Given the description of an element on the screen output the (x, y) to click on. 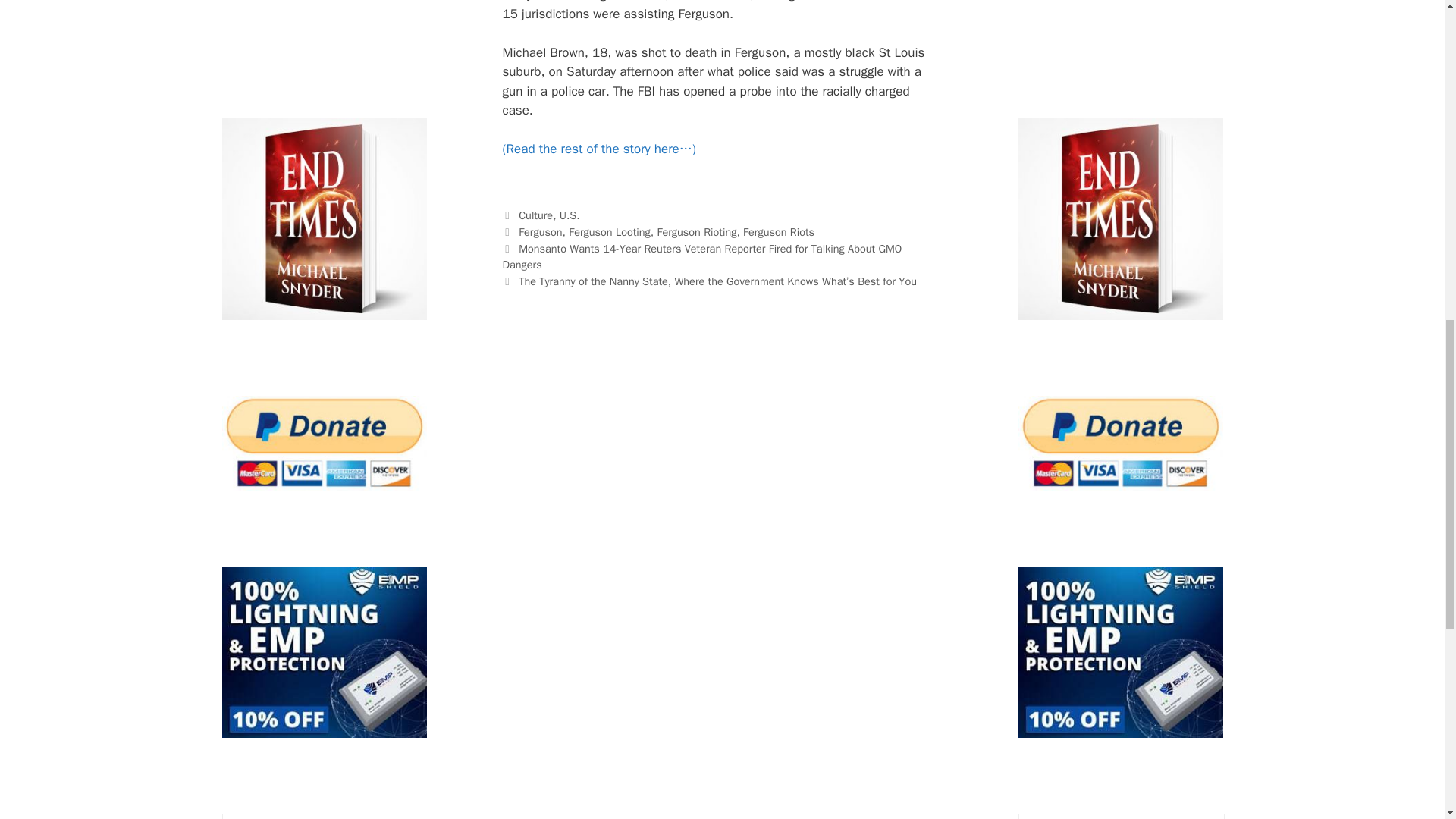
U.S. (569, 214)
U.S. (569, 214)
Culture (535, 214)
Ferguson Rioting (696, 232)
Ferguson (540, 232)
Previous (701, 256)
Ferguson (540, 232)
Ferguson Looting (609, 232)
Ferguson Looting (609, 232)
Ferguson Rioting (696, 232)
